Given the description of an element on the screen output the (x, y) to click on. 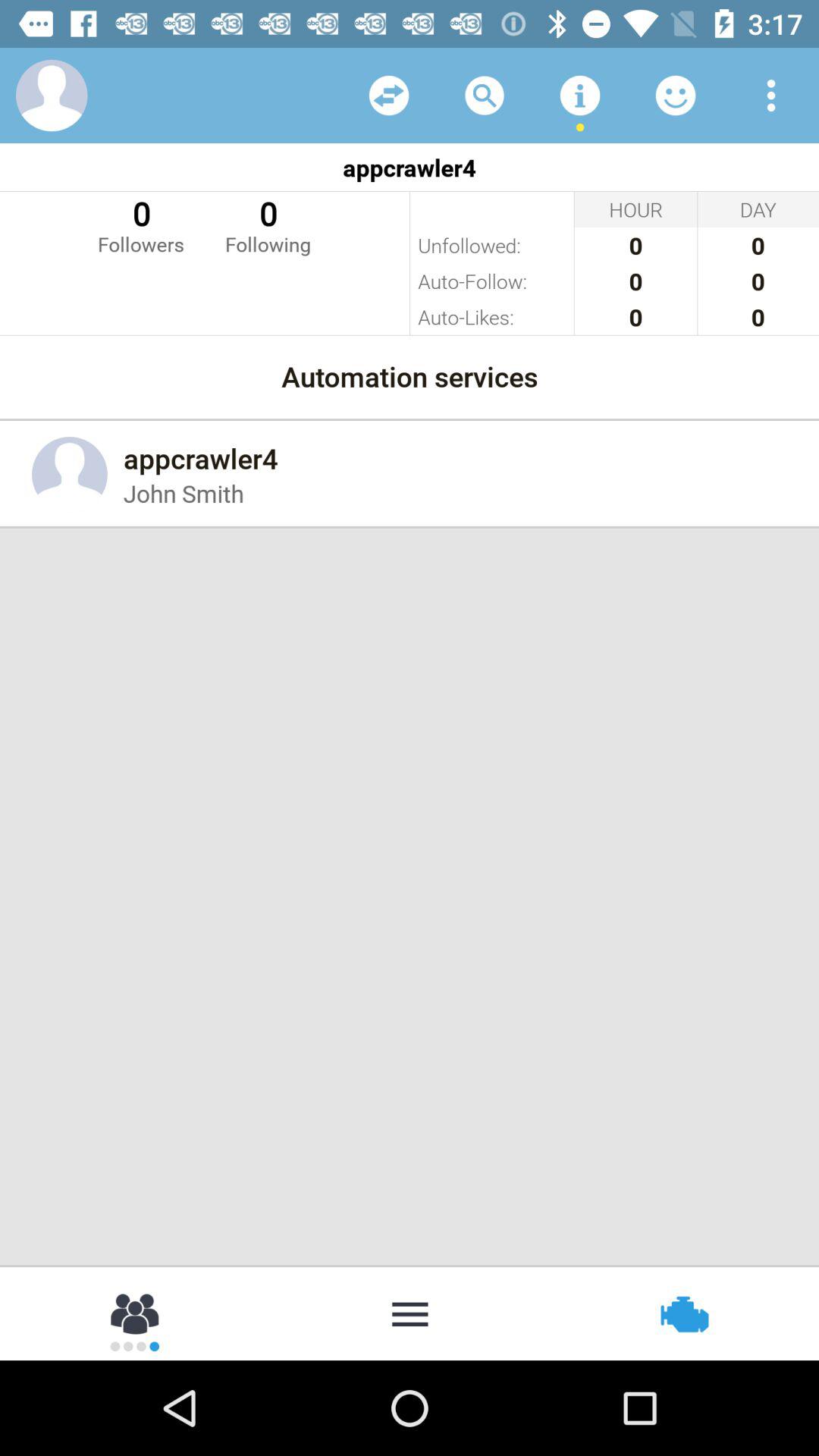
press icon above the appcrawler4 (579, 95)
